Given the description of an element on the screen output the (x, y) to click on. 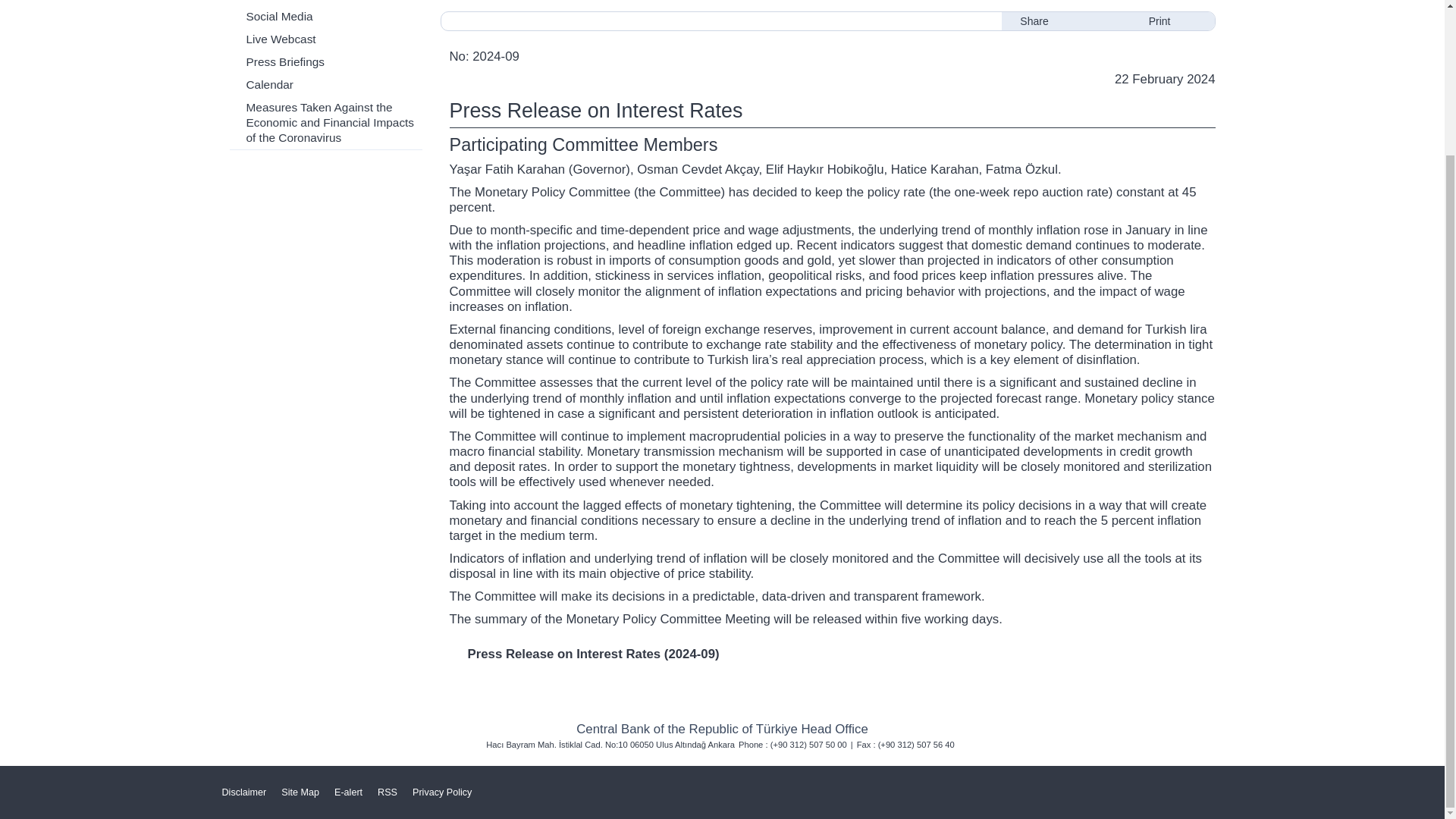
facebook (1090, 21)
Youtube (1118, 789)
Linkedin (1209, 789)
twitter (1064, 21)
linkedin (1115, 21)
Twitter (1027, 789)
Facebook (1072, 789)
Flickr (1163, 789)
